Given the description of an element on the screen output the (x, y) to click on. 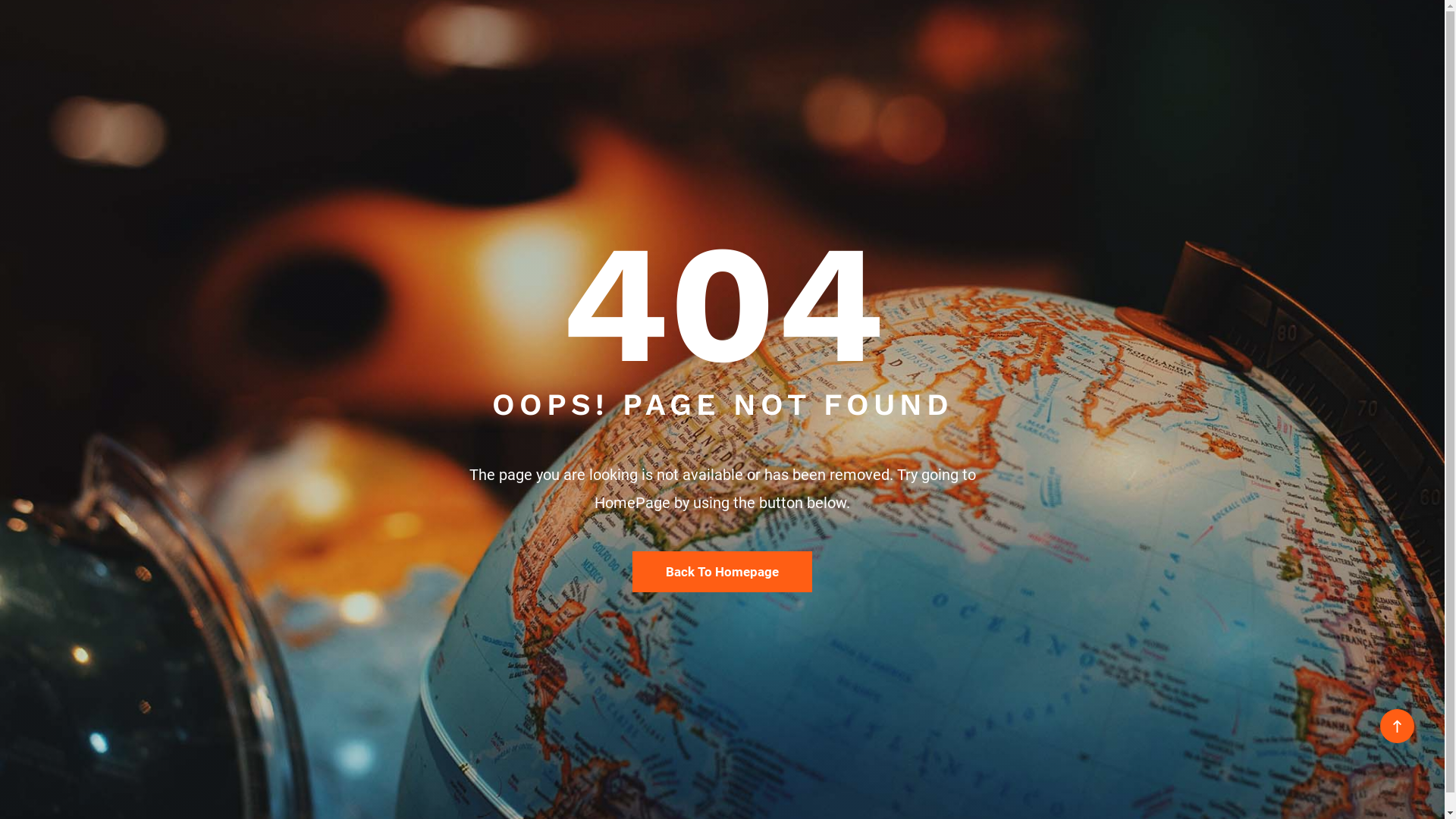
Back To Homepage Element type: text (722, 571)
